Given the description of an element on the screen output the (x, y) to click on. 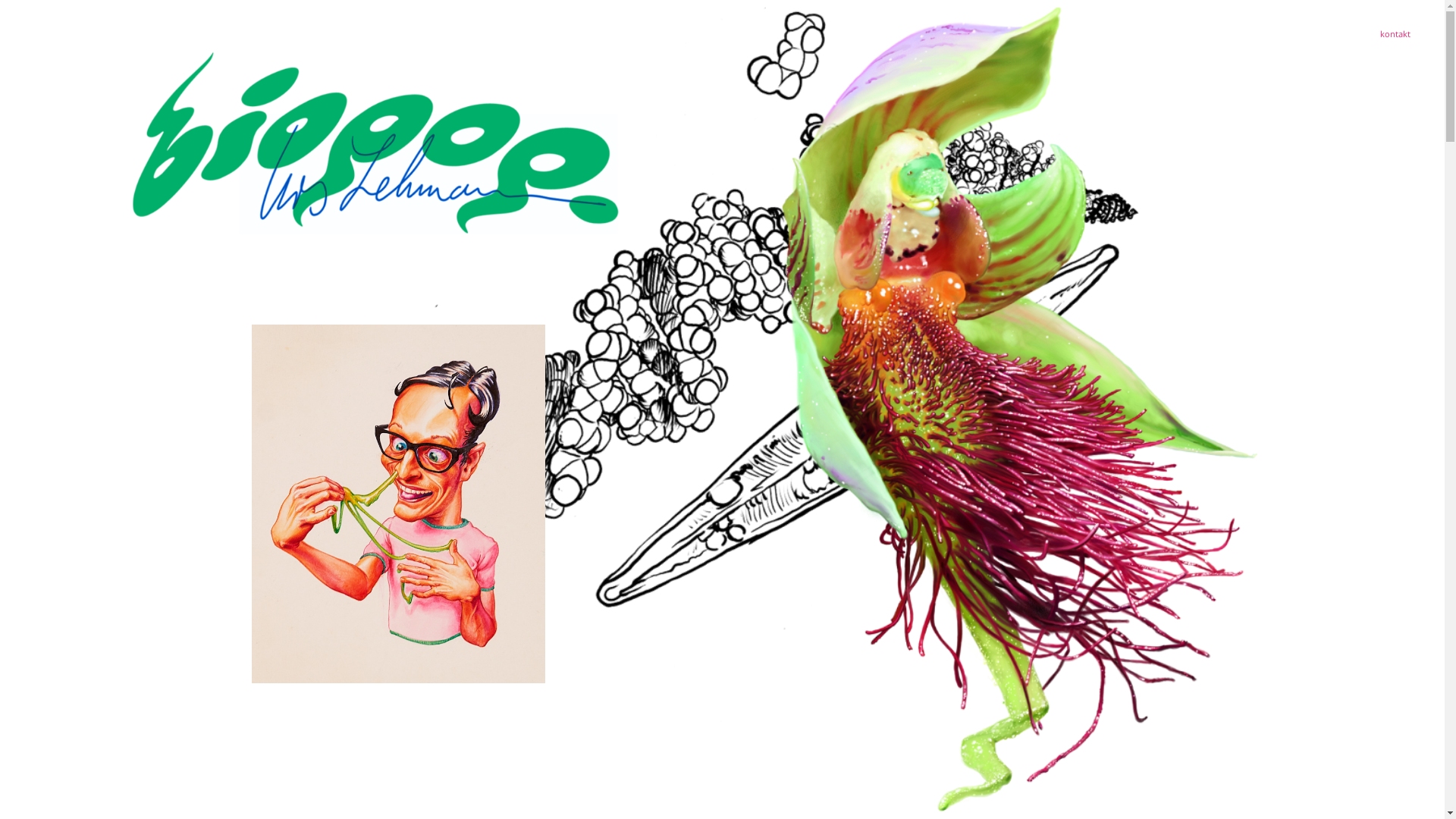
biopop-logo-unterschrift Element type: hover (375, 142)
kontakt Element type: text (1395, 33)
